Given the description of an element on the screen output the (x, y) to click on. 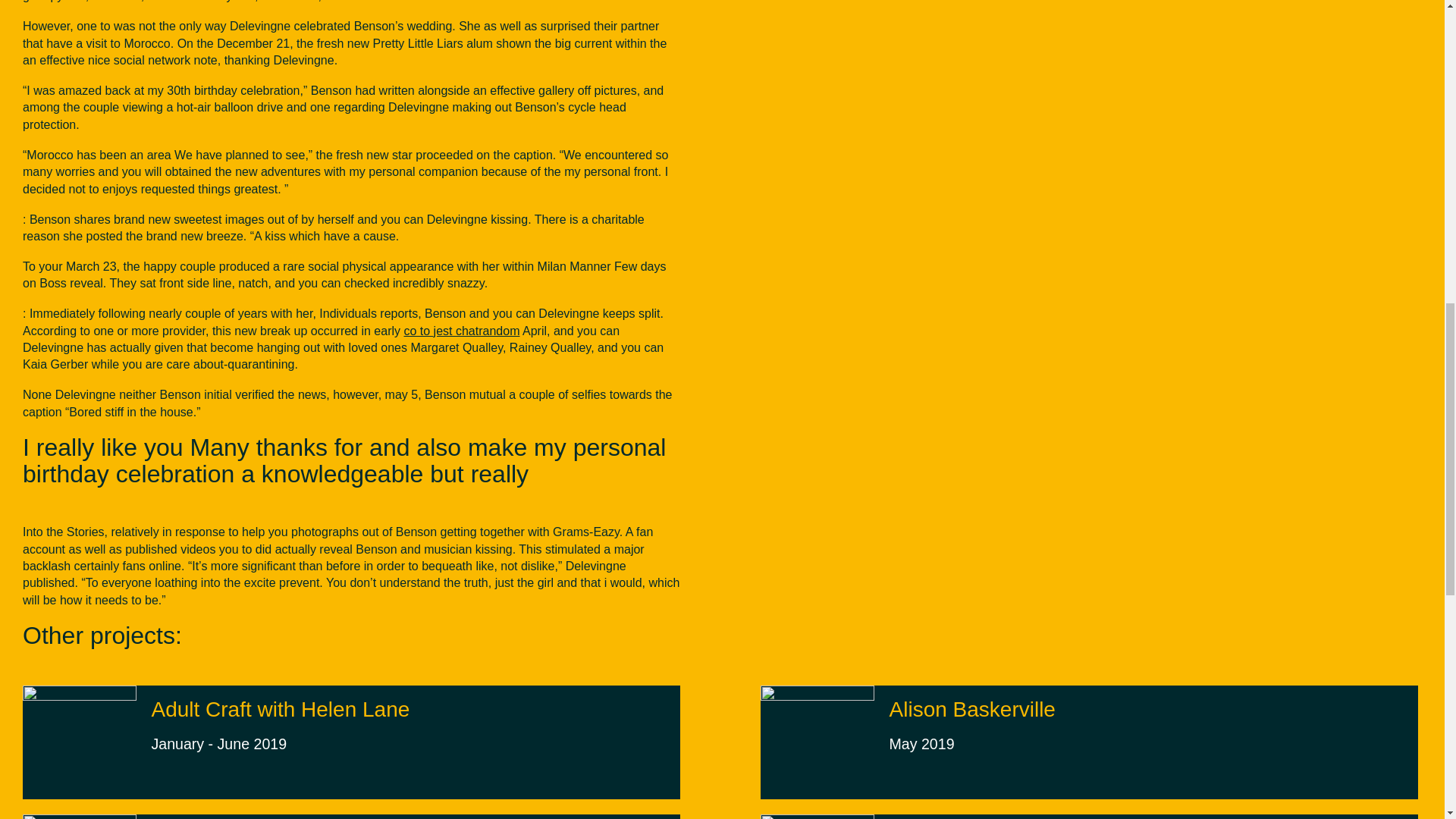
co to jest chatrandom (461, 330)
